Given the description of an element on the screen output the (x, y) to click on. 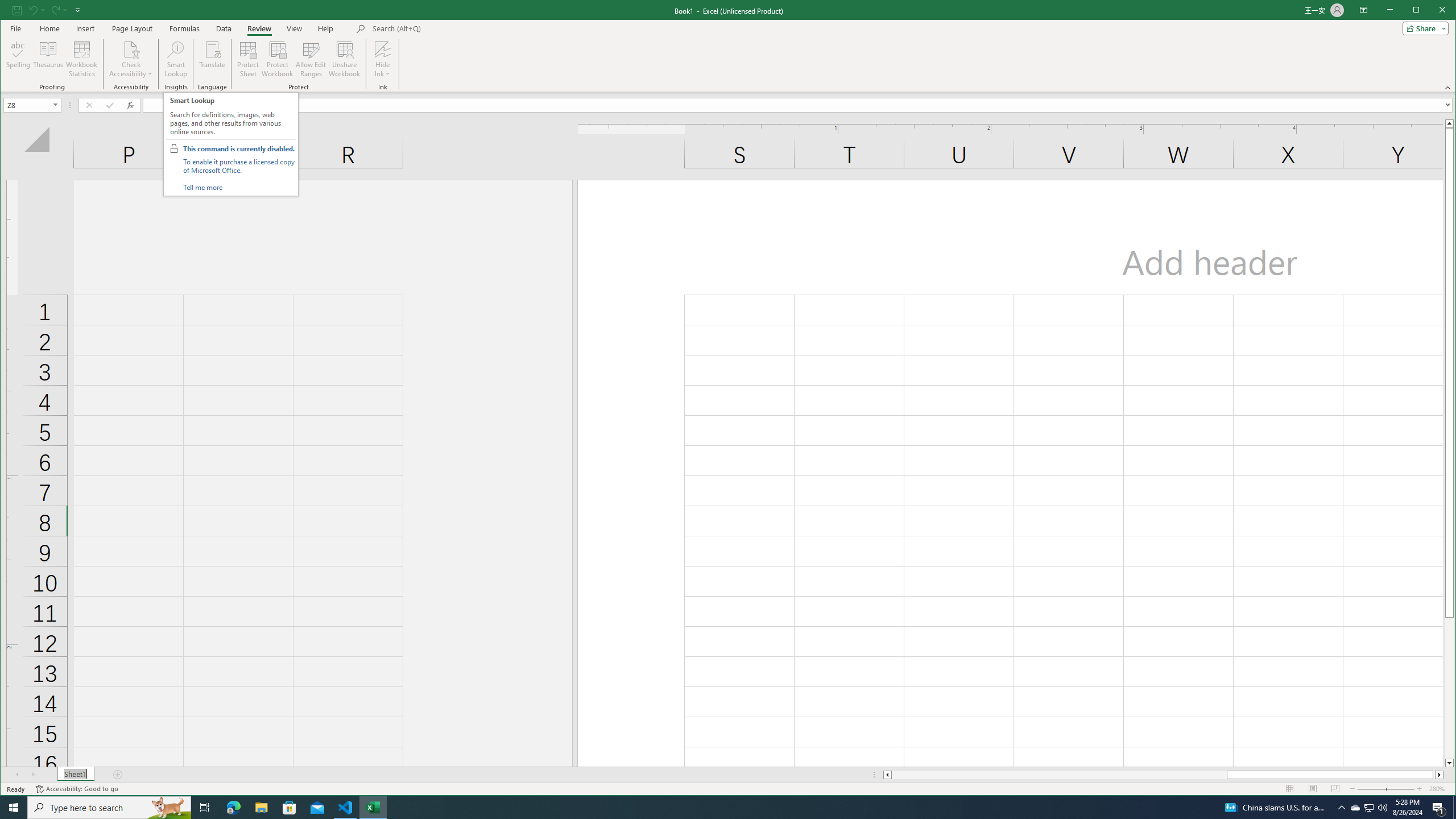
Translate (212, 59)
Page down (1449, 687)
Share (1422, 27)
Class: NetUIImage (173, 148)
Smart Lookup (176, 59)
Normal (1289, 788)
Show desktop (1454, 807)
Check Accessibility (130, 48)
Notification Chevron (1341, 807)
Formulas (184, 28)
Task View (204, 807)
Review (259, 28)
